Given the description of an element on the screen output the (x, y) to click on. 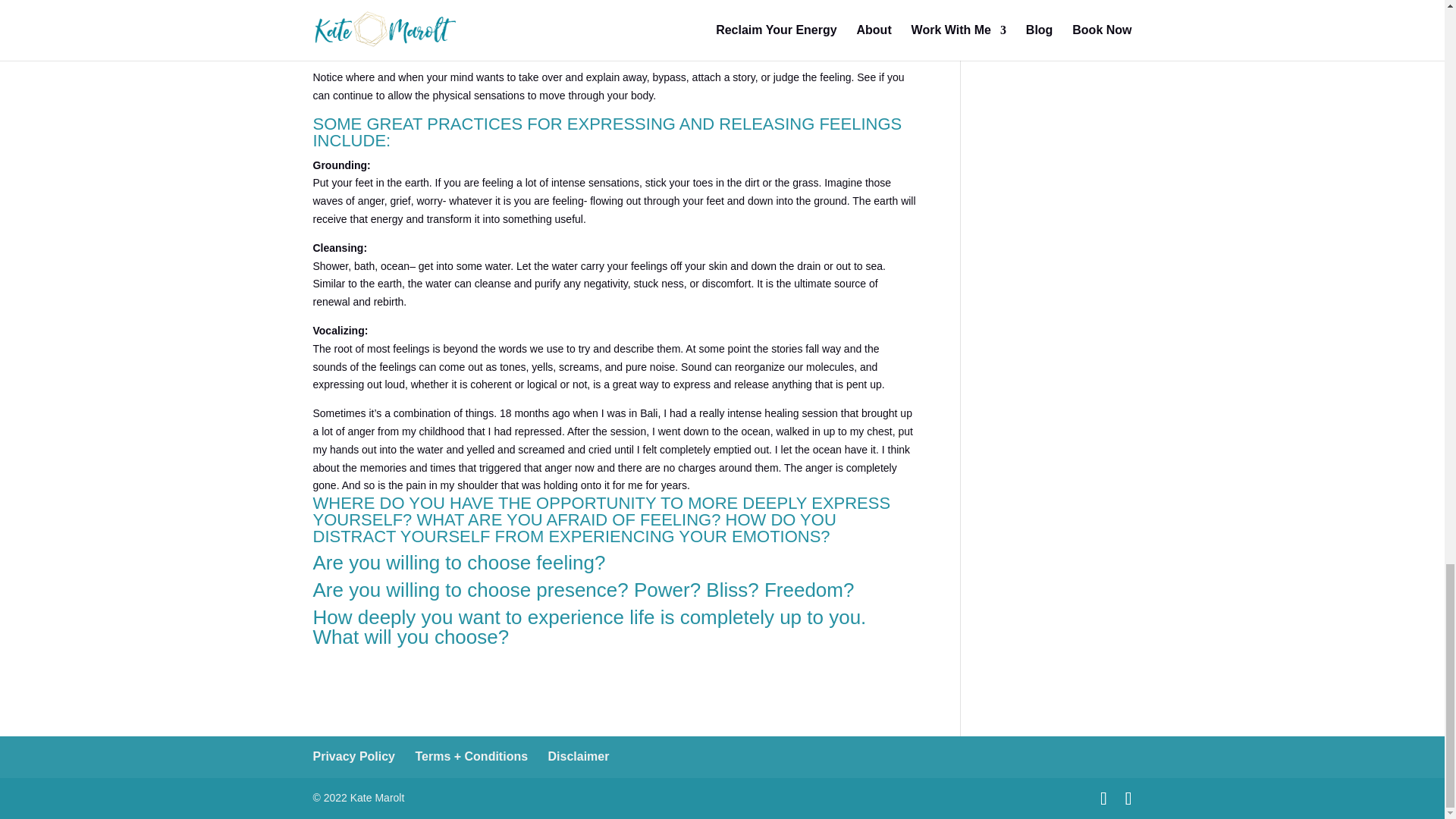
Disclaimer (579, 756)
Privacy Policy (353, 756)
